Given the description of an element on the screen output the (x, y) to click on. 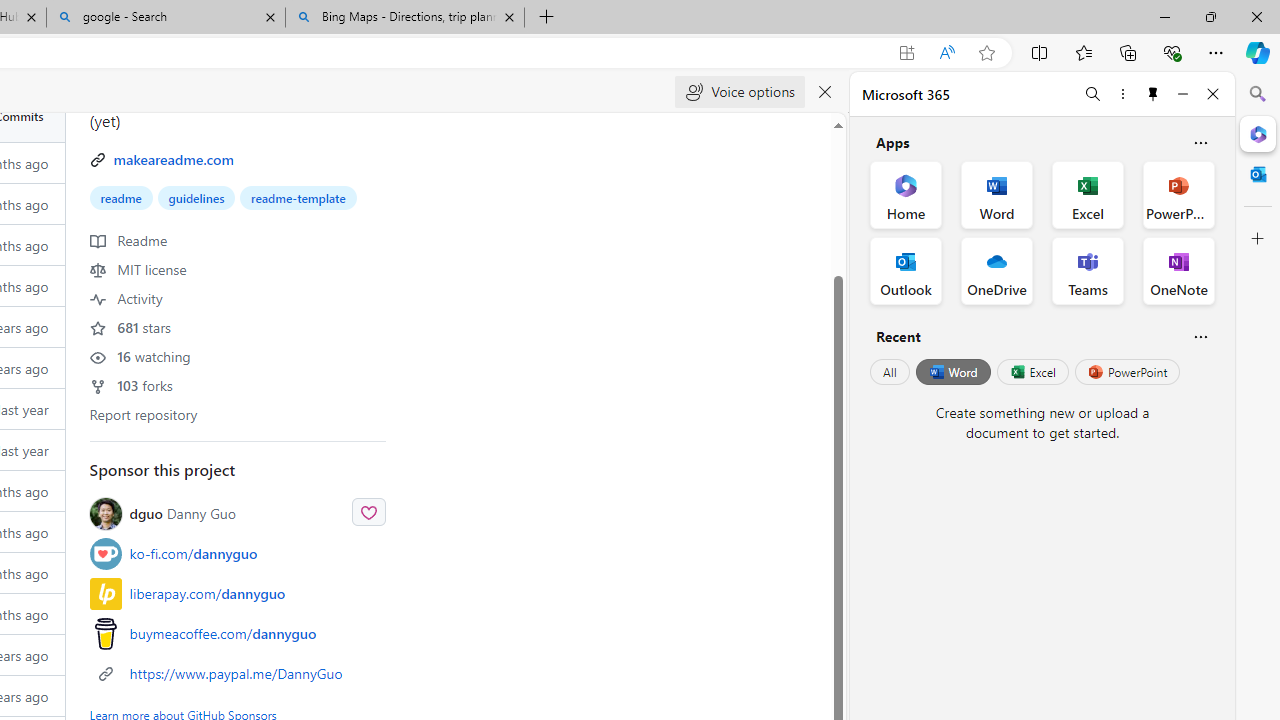
ko-fi.com/dannyguo (237, 553)
readme (121, 197)
@dguo (109, 512)
liberapay (105, 592)
More options (1122, 93)
https://www.paypal.me/DannyGuo (237, 672)
OneDrive Office App (996, 270)
